Given the description of an element on the screen output the (x, y) to click on. 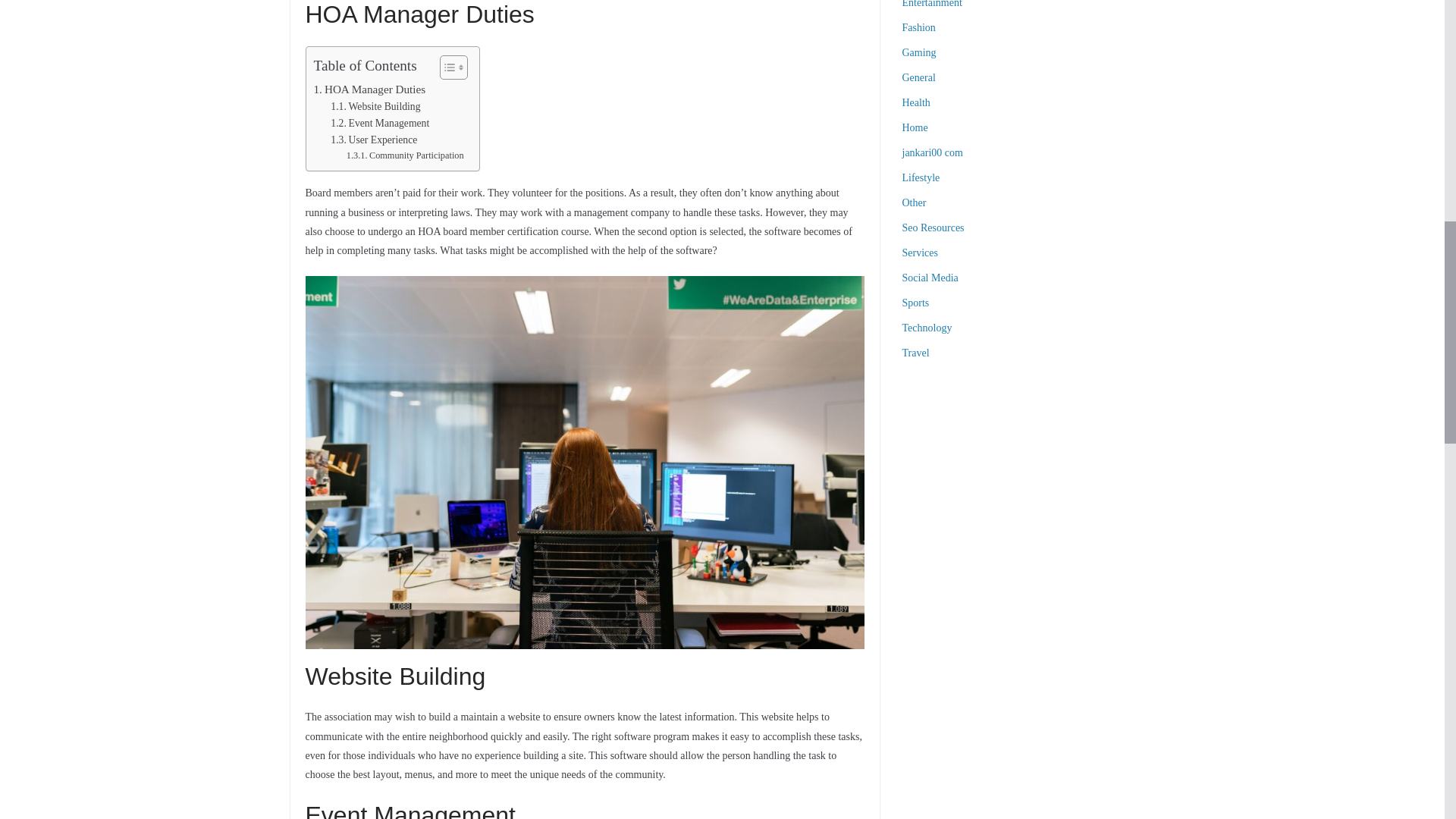
User Experience (373, 139)
Community Participation (405, 155)
Event Management (379, 123)
Website Building (375, 106)
Event Management (379, 123)
User Experience (373, 139)
HOA Manager Duties (370, 89)
Website Building (375, 106)
HOA Manager Duties (370, 89)
Community Participation (405, 155)
